Given the description of an element on the screen output the (x, y) to click on. 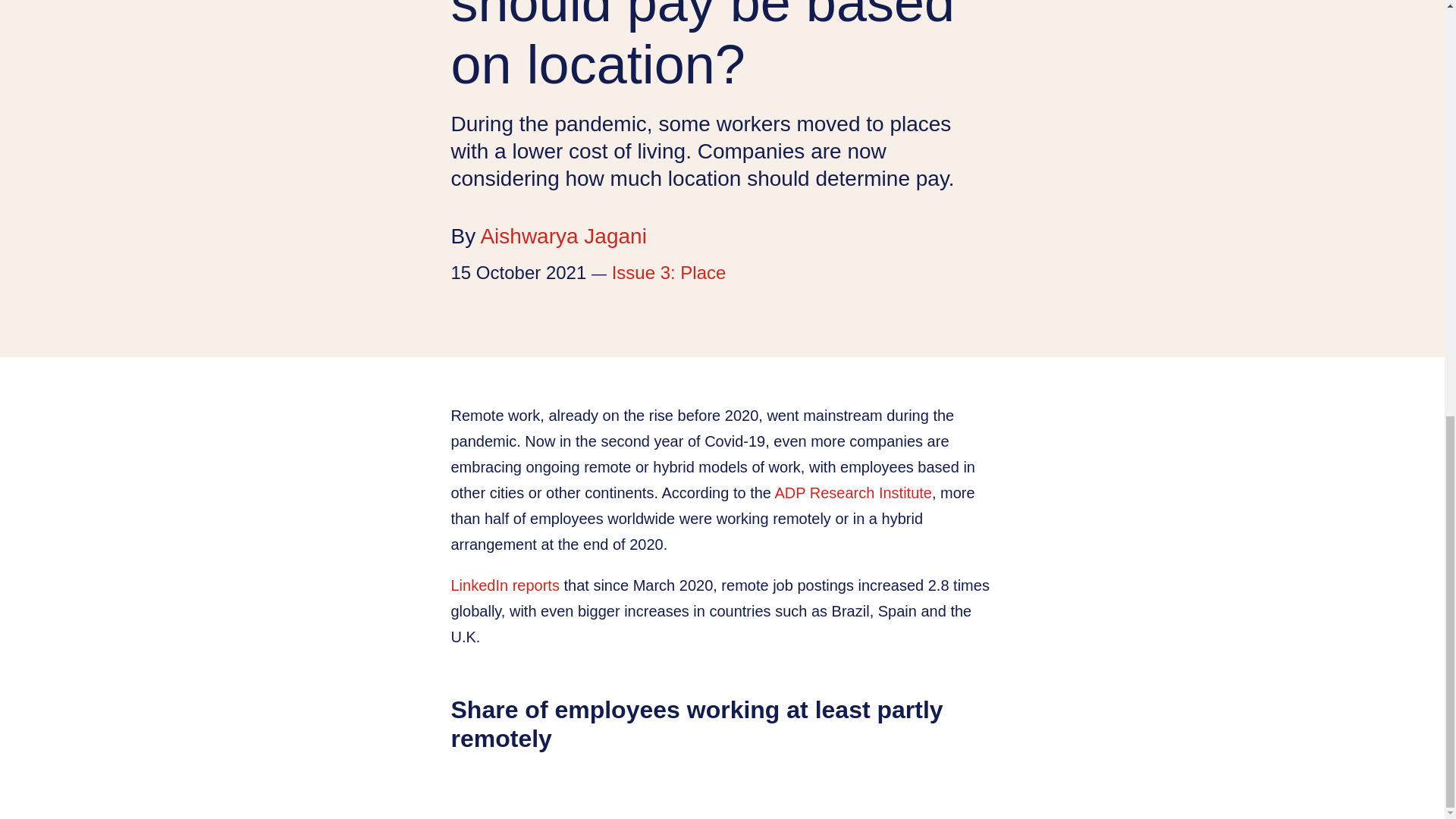
Aishwarya Jagani (563, 236)
ADP Research Institute (852, 492)
Issue 3: Place (668, 272)
LinkedIn reports (504, 585)
